Given the description of an element on the screen output the (x, y) to click on. 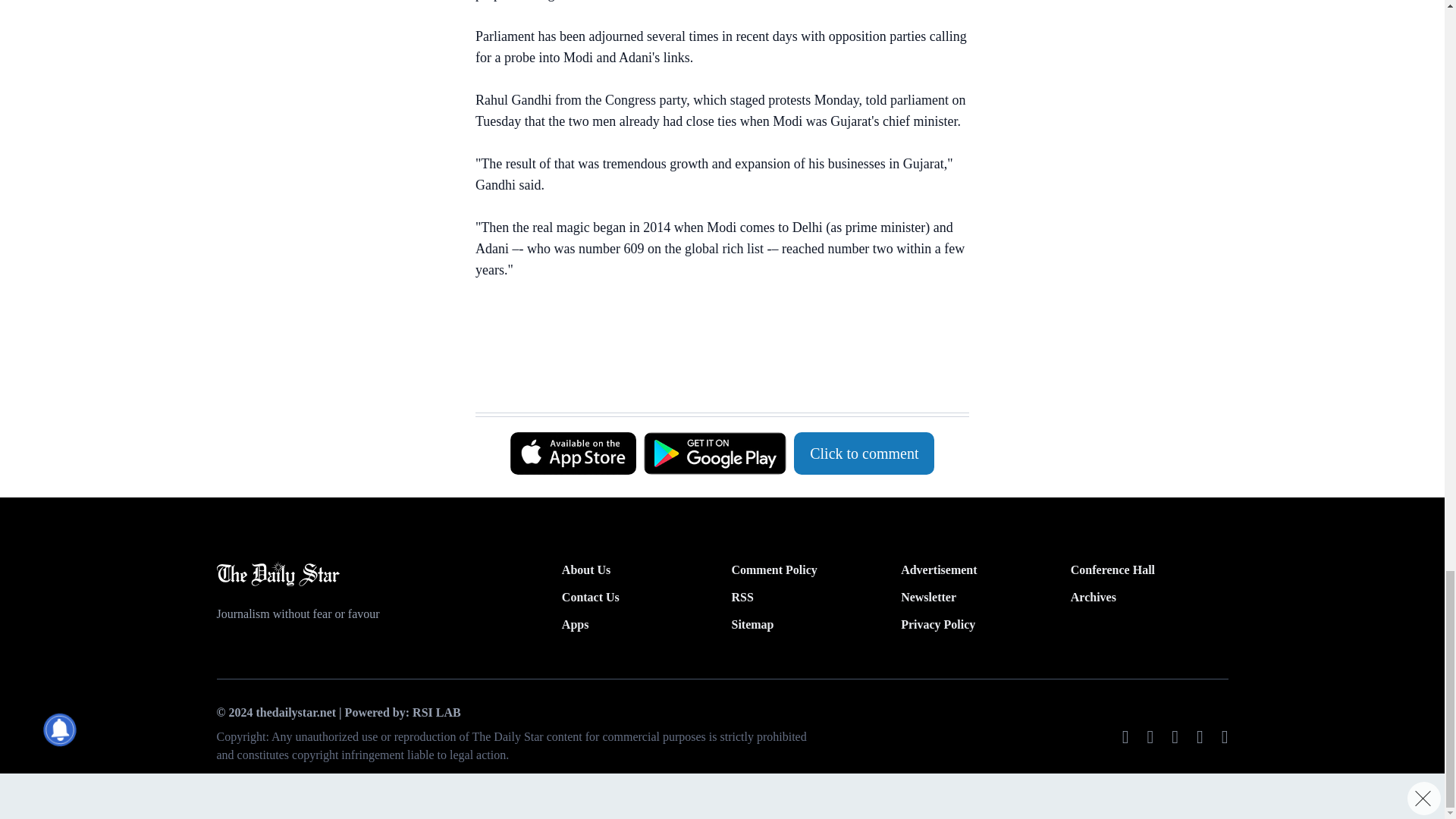
3rd party ad content (714, 374)
